Given the description of an element on the screen output the (x, y) to click on. 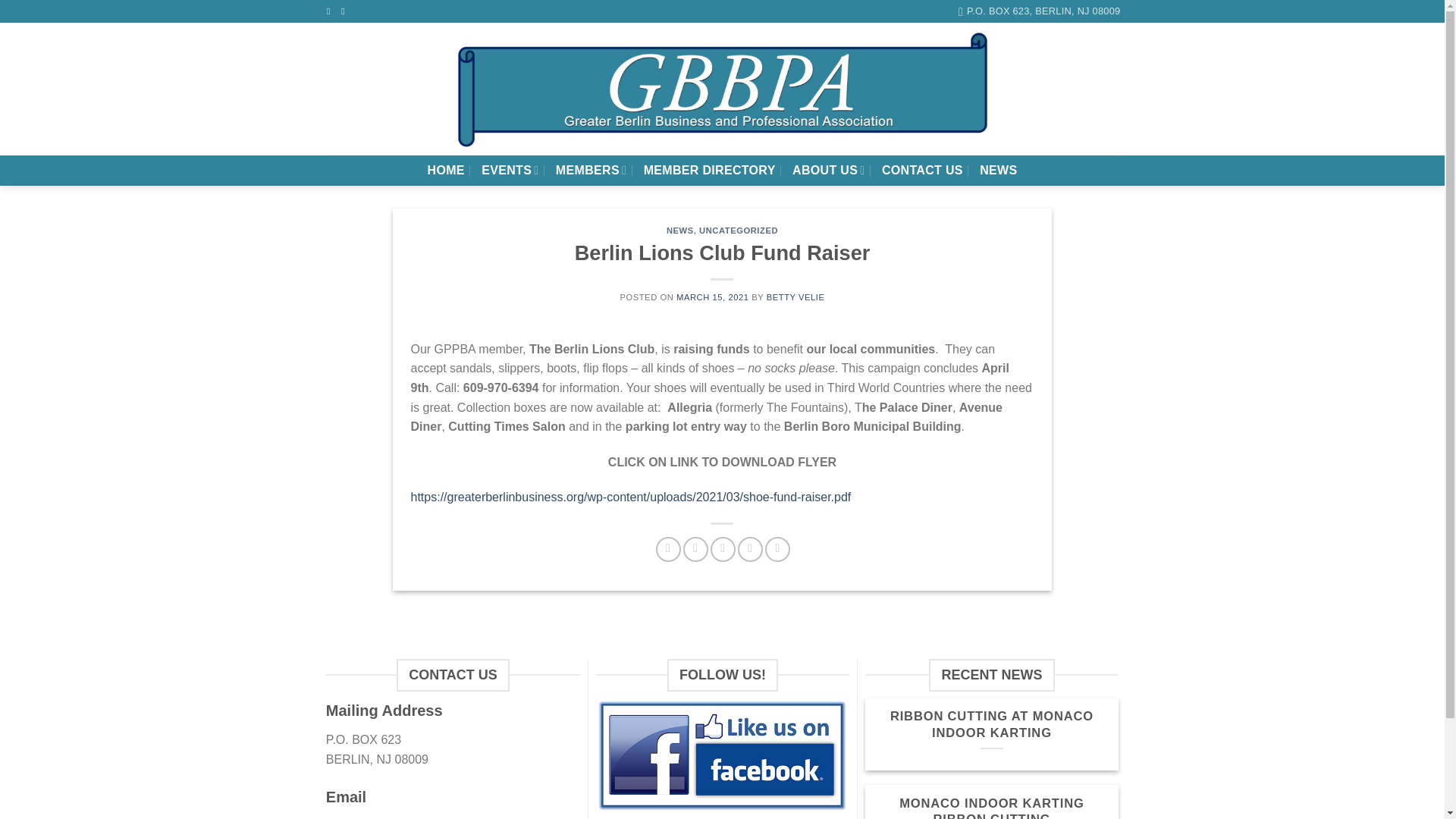
NEWS (997, 170)
Share on LinkedIn (777, 549)
Pin on Pinterest (750, 549)
UNCATEGORIZED (737, 230)
Share on Twitter (694, 549)
BETTY VELIE (796, 297)
P.O. Box 623, Berlin, NJ 08009 (1038, 11)
MONACO INDOOR KARTING RIBBON CUTTING (992, 807)
CONTACT US (922, 170)
Greater Berlin Business Association (722, 89)
MEMBER DIRECTORY (709, 170)
ABOUT US (828, 170)
NEWS (680, 230)
EVENTS (509, 170)
MEMBERS (591, 170)
